Given the description of an element on the screen output the (x, y) to click on. 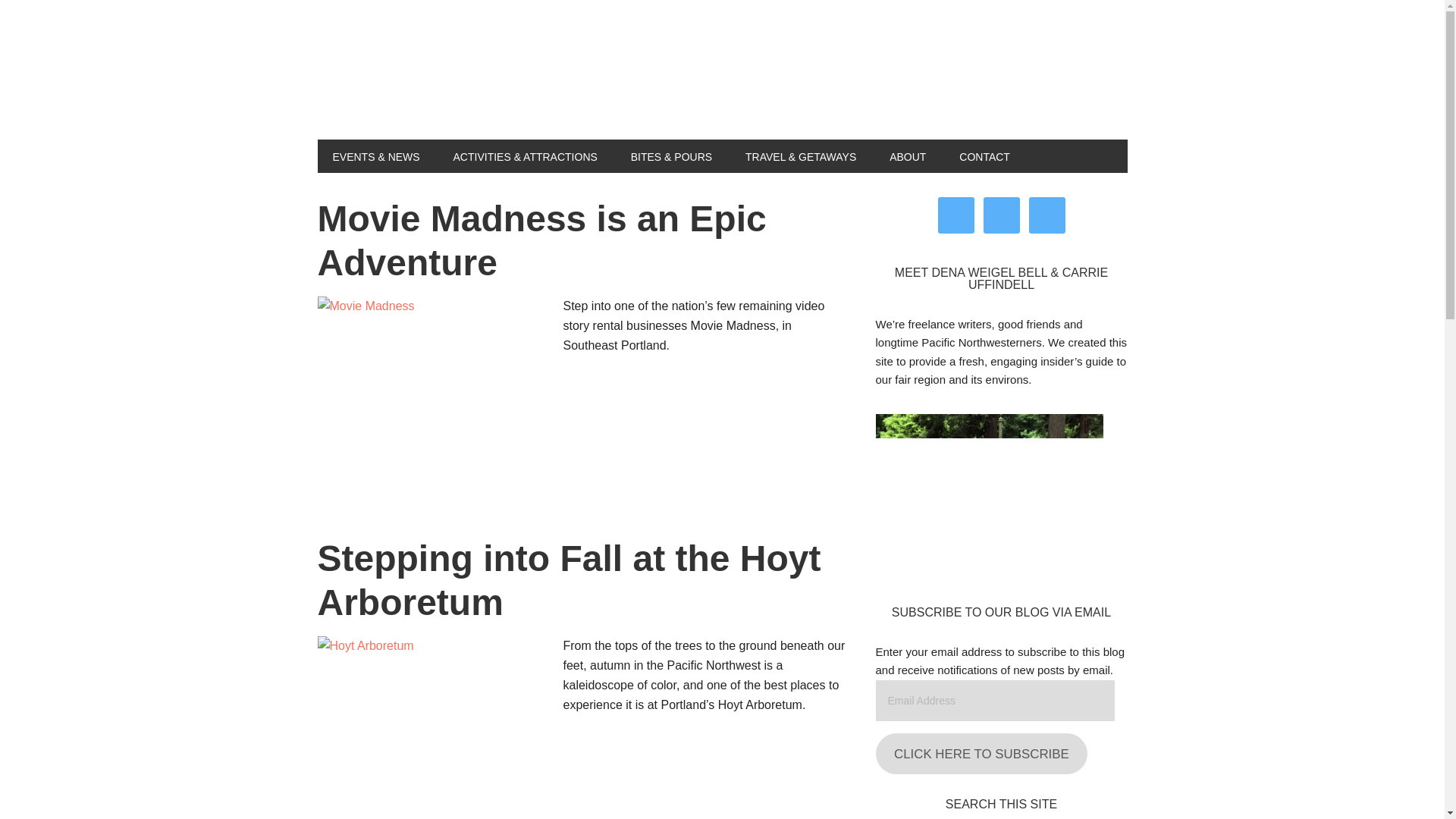
CLICK HERE TO SUBSCRIBE (981, 753)
CONTACT (984, 155)
Movie Madness is an Epic Adventure (541, 240)
EVERYTHING PACIFIC NORTHWEST (419, 81)
ABOUT (907, 155)
Stepping into Fall at the Hoyt Arboretum (569, 580)
